Given the description of an element on the screen output the (x, y) to click on. 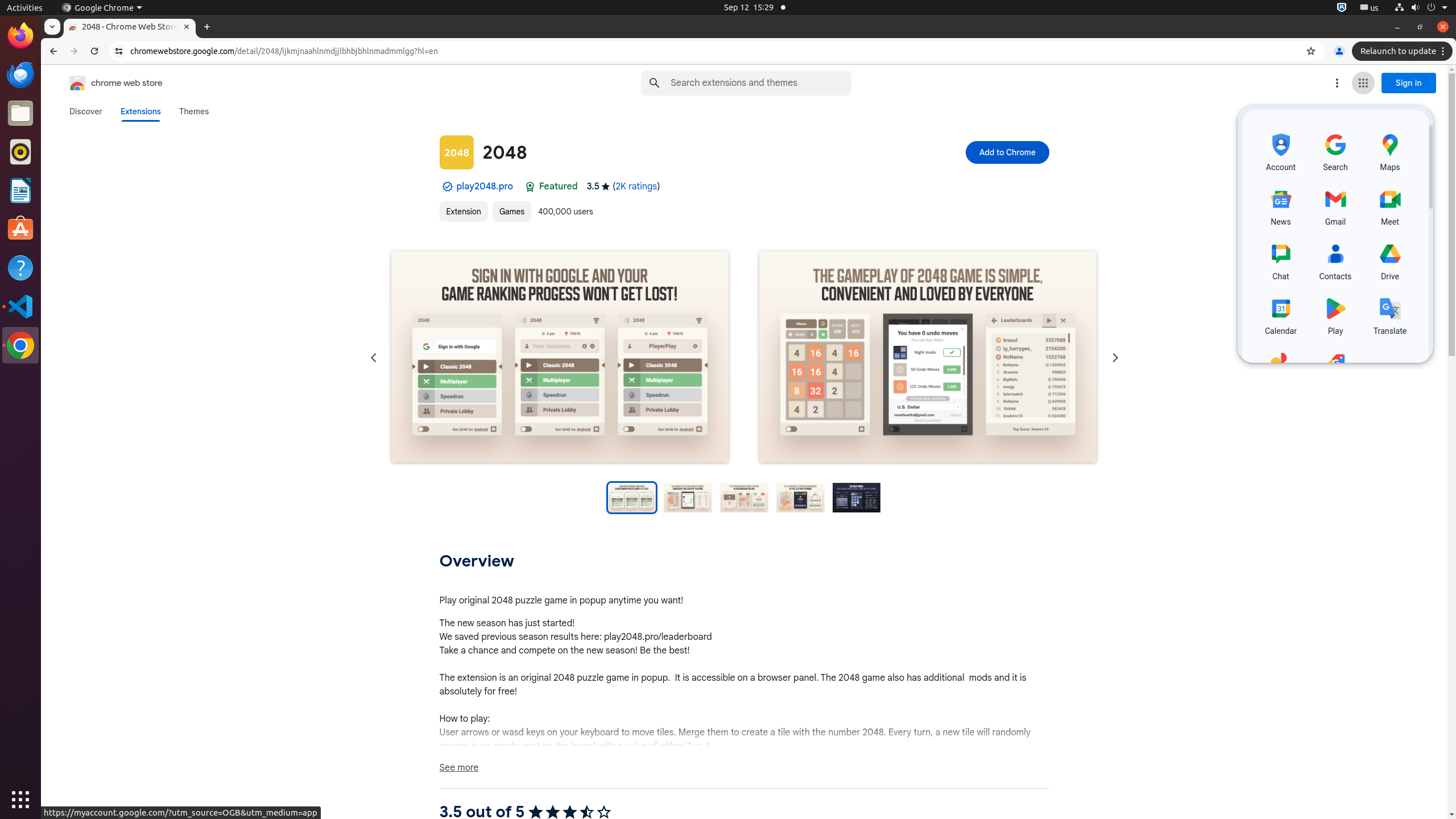
Forward Element type: push-button (73, 50)
2K ratings Element type: link (636, 186)
Featured Badge Element type: push-button (530, 186)
Relaunch to update Element type: push-button (1403, 50)
View site information Element type: push-button (118, 51)
